Given the description of an element on the screen output the (x, y) to click on. 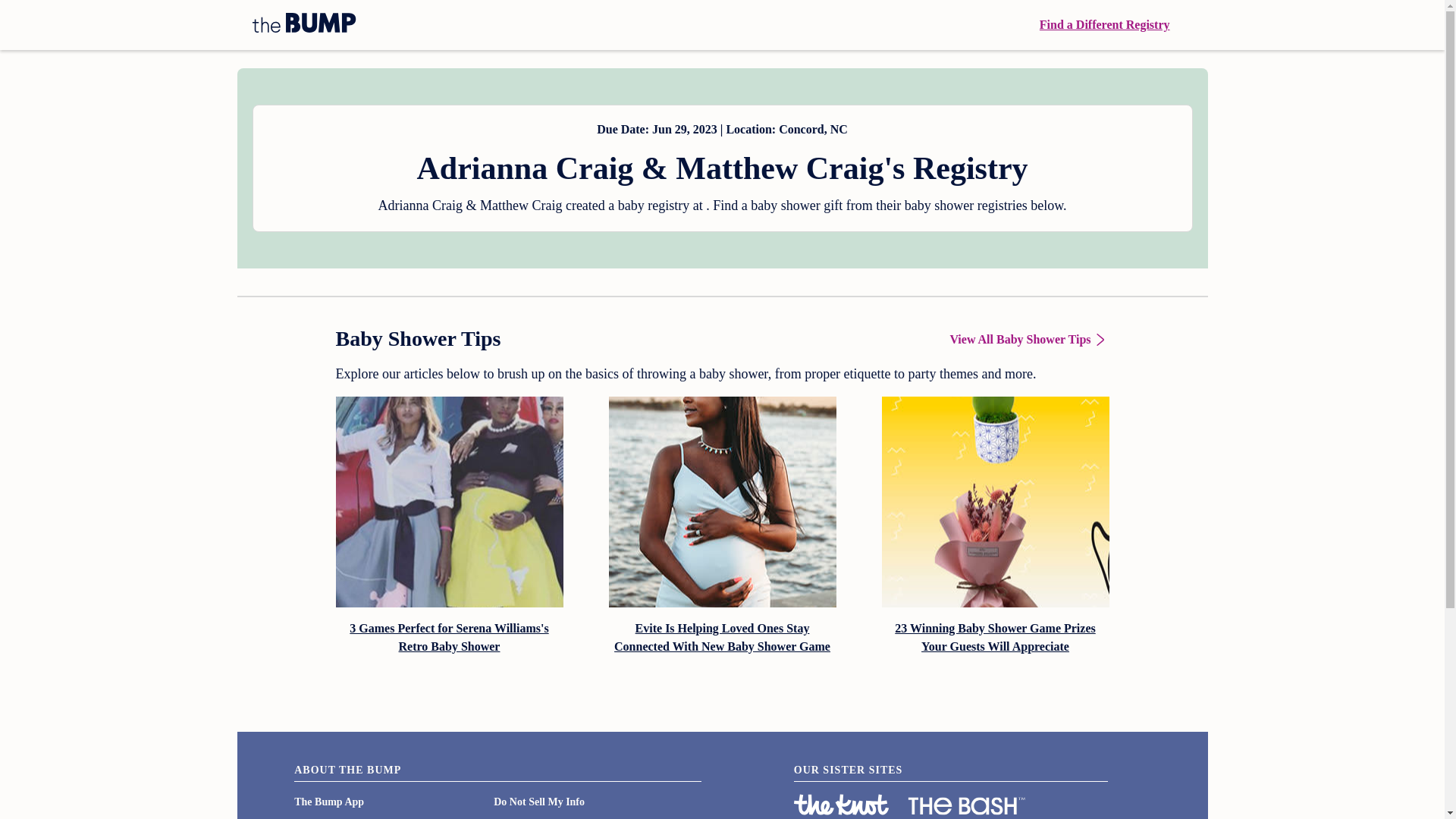
Find a Different Registry (1104, 24)
Do Not Sell My Info (539, 801)
View All Baby Shower Tips (1028, 339)
The Bump App (329, 801)
